Given the description of an element on the screen output the (x, y) to click on. 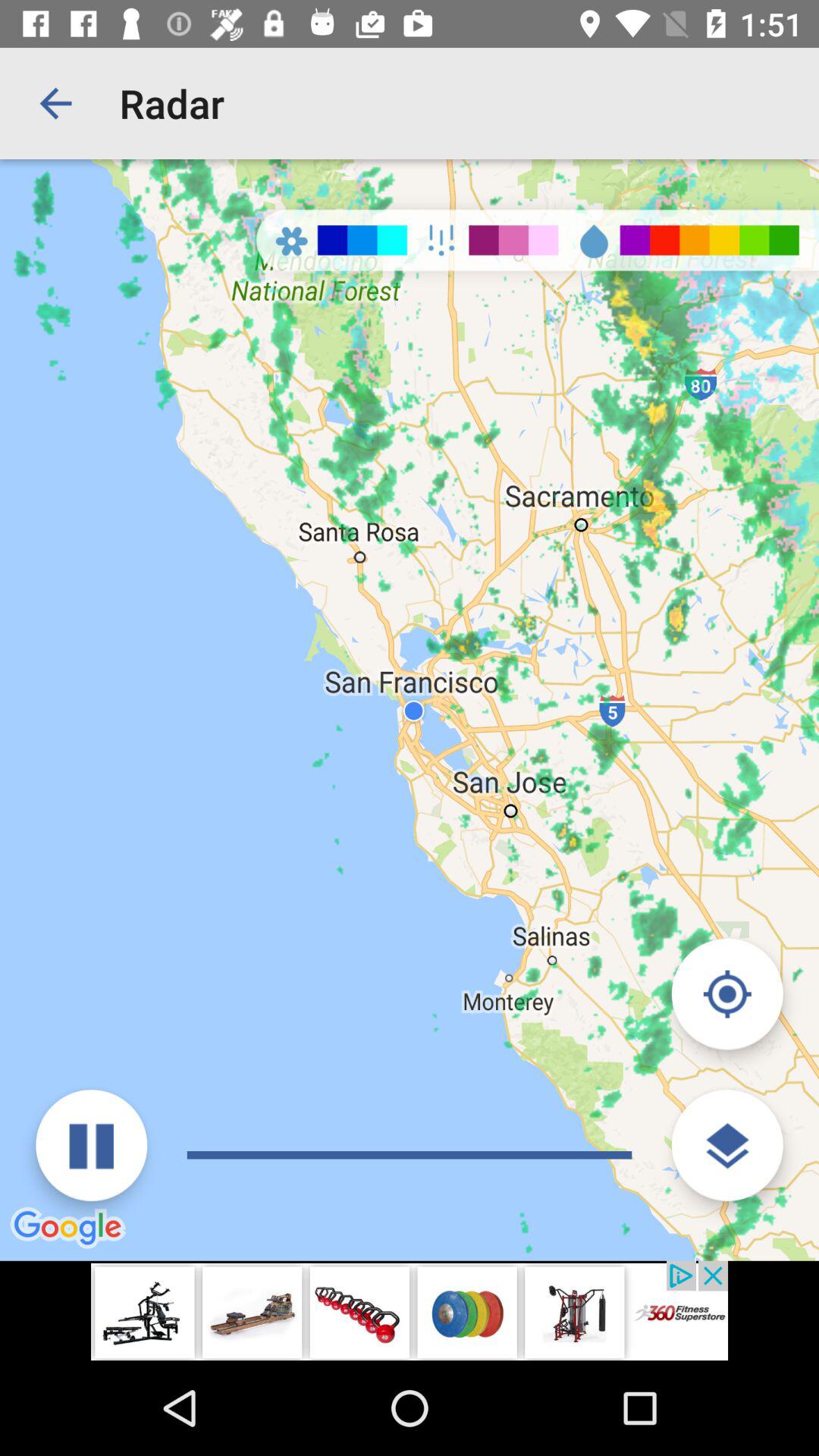
get more information (727, 1145)
